Given the description of an element on the screen output the (x, y) to click on. 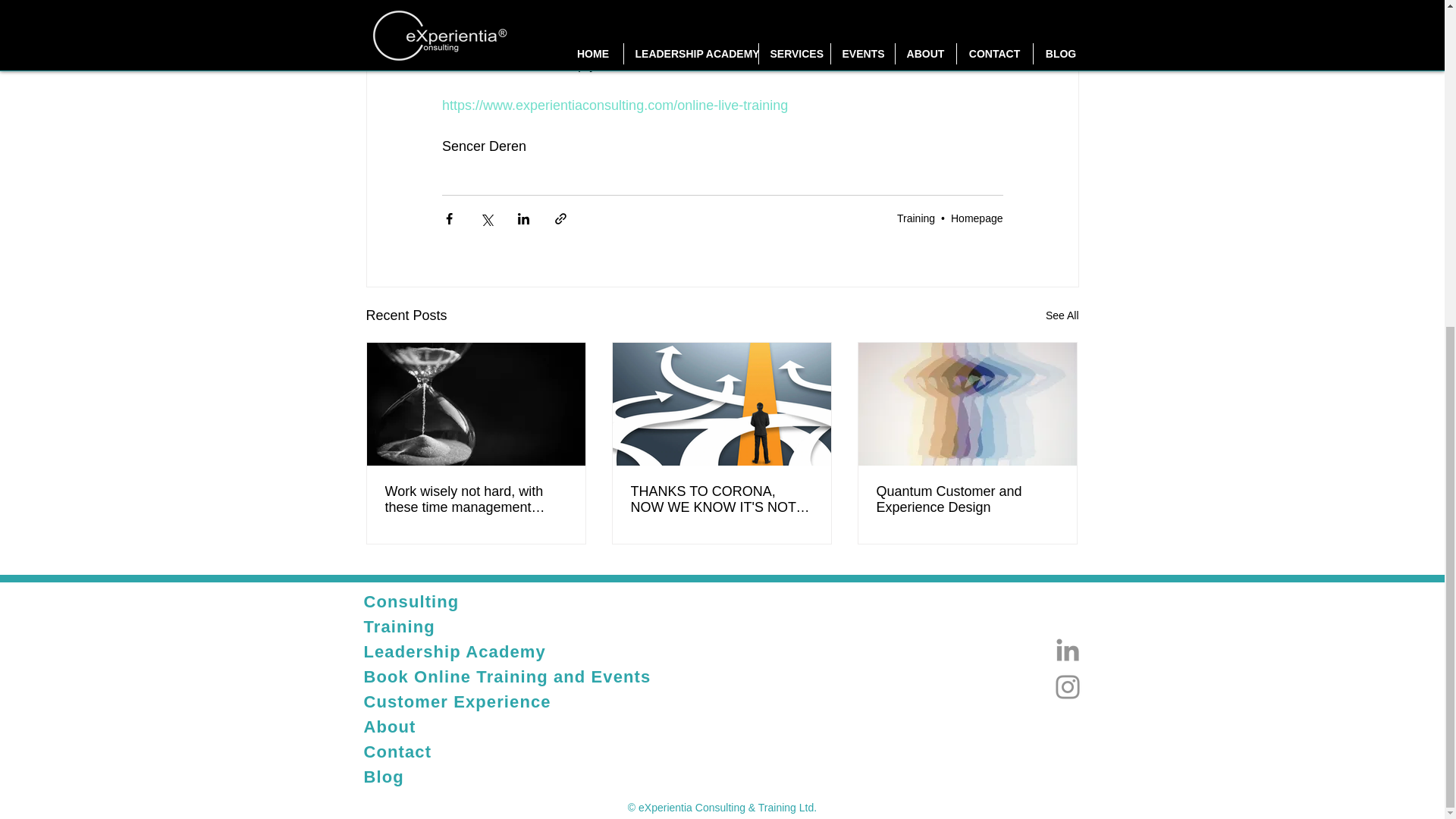
Training (915, 217)
See All (1061, 315)
Work wisely not hard, with these time management techniques (476, 499)
Homepage (976, 217)
